Given the description of an element on the screen output the (x, y) to click on. 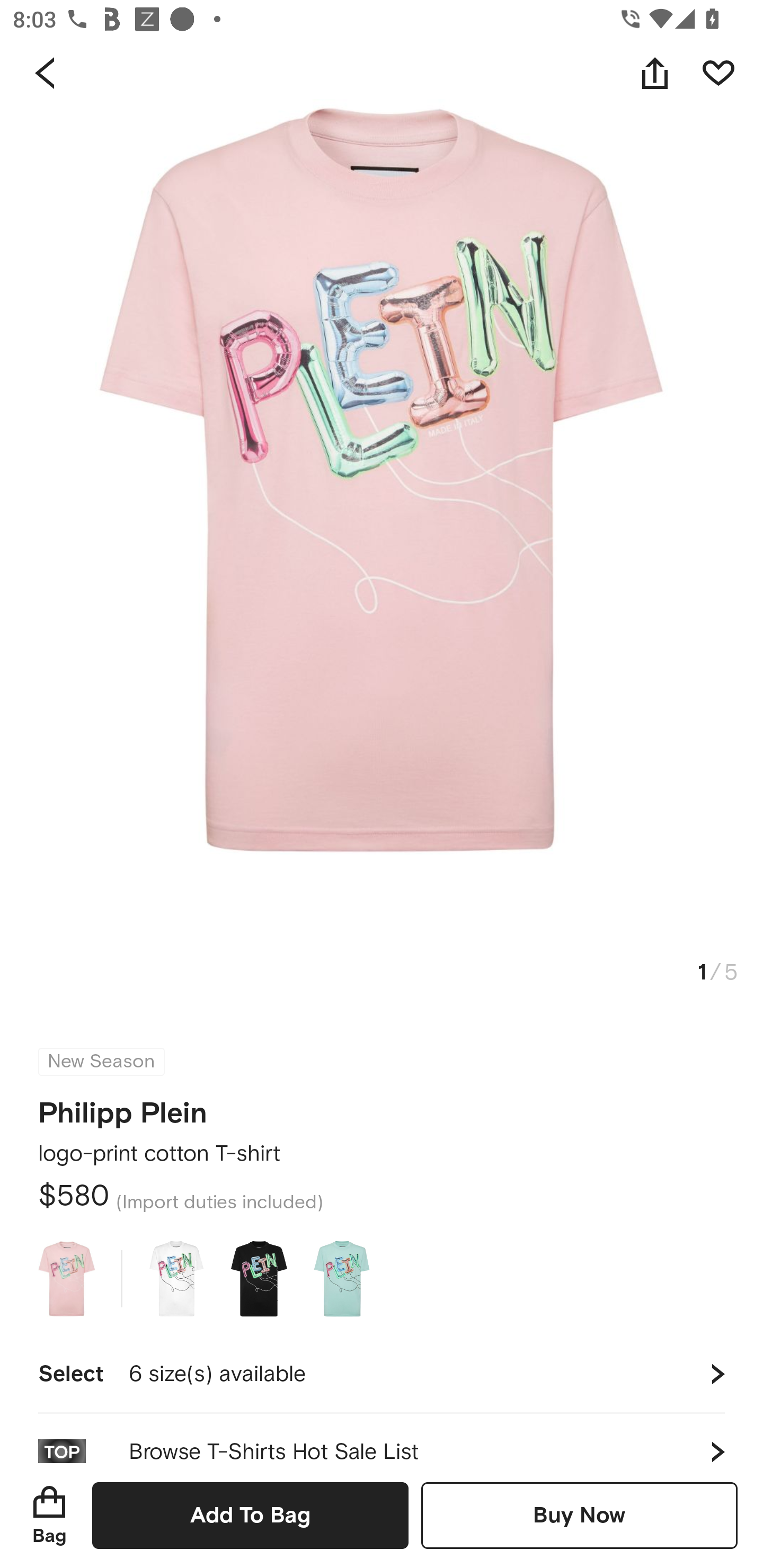
Philipp Plein (122, 1107)
Select 6 size(s) available (381, 1373)
Browse T-Shirts Hot Sale List (381, 1438)
Bag (49, 1515)
Add To Bag (250, 1515)
Buy Now (579, 1515)
